Given the description of an element on the screen output the (x, y) to click on. 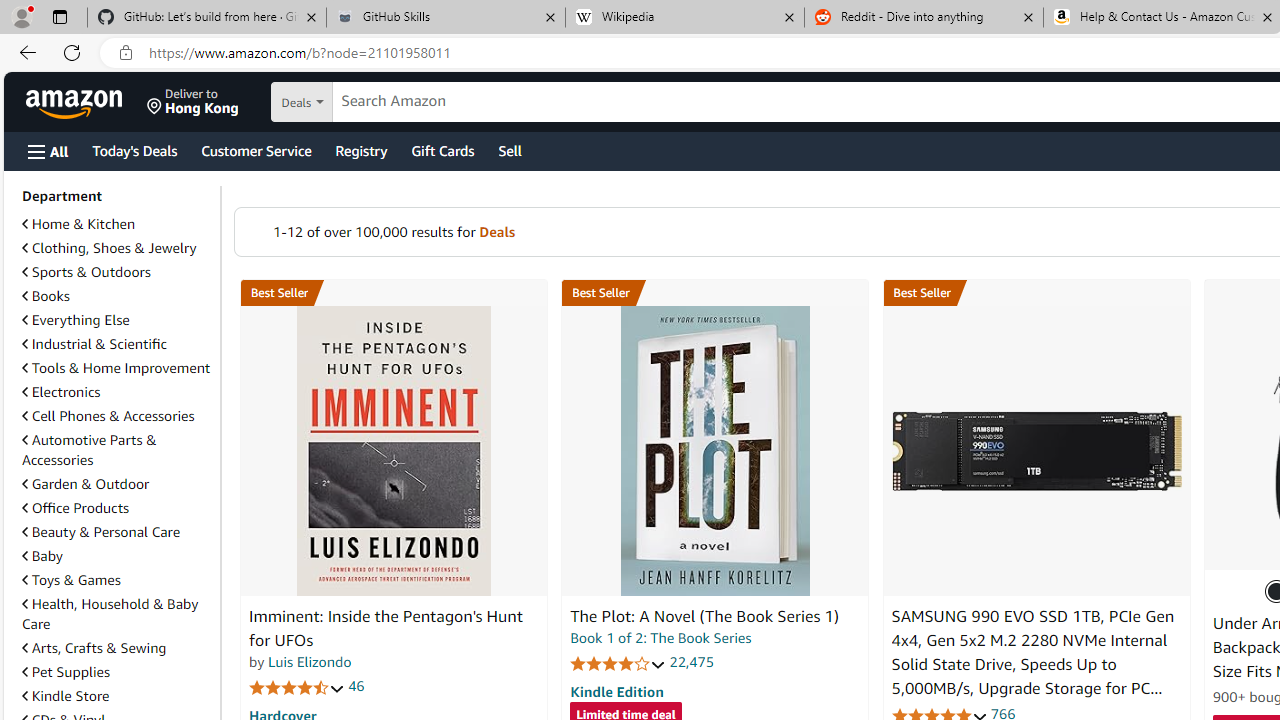
Registry (360, 150)
Beauty & Personal Care (100, 531)
Sell (509, 150)
Wikipedia (684, 17)
Best Seller in Heist Thrillers (715, 293)
Industrial & Scientific (94, 343)
Industrial & Scientific (117, 344)
4.2 out of 5 stars (617, 663)
The Plot: A Novel (The Book Series 1) (703, 616)
Pet Supplies (65, 672)
Electronics (61, 392)
Kindle Store (65, 695)
Skip to main content (86, 100)
Everything Else (75, 320)
Sports & Outdoors (117, 272)
